Given the description of an element on the screen output the (x, y) to click on. 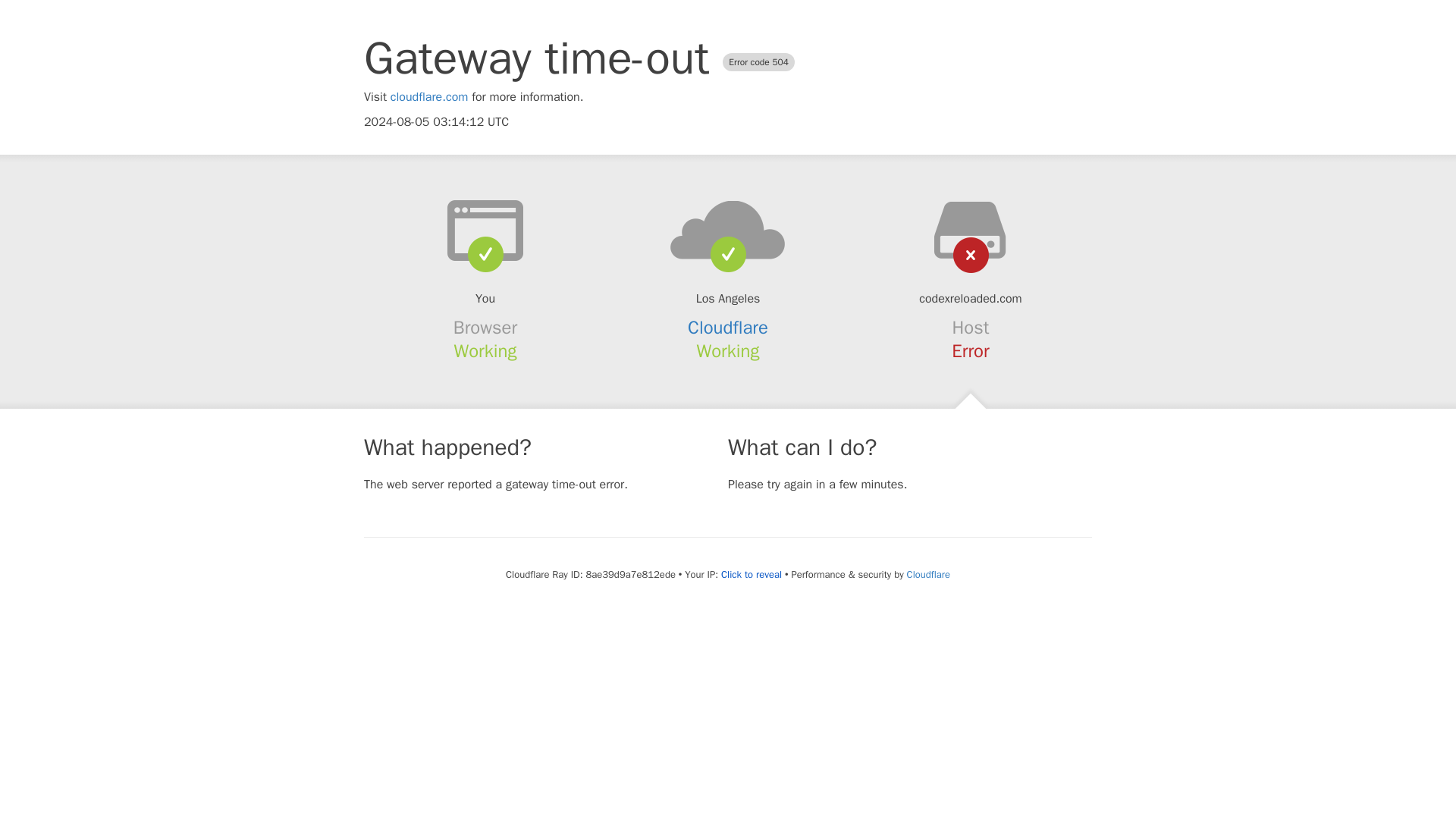
Click to reveal (750, 574)
Cloudflare (727, 327)
cloudflare.com (429, 96)
Cloudflare (928, 574)
